Given the description of an element on the screen output the (x, y) to click on. 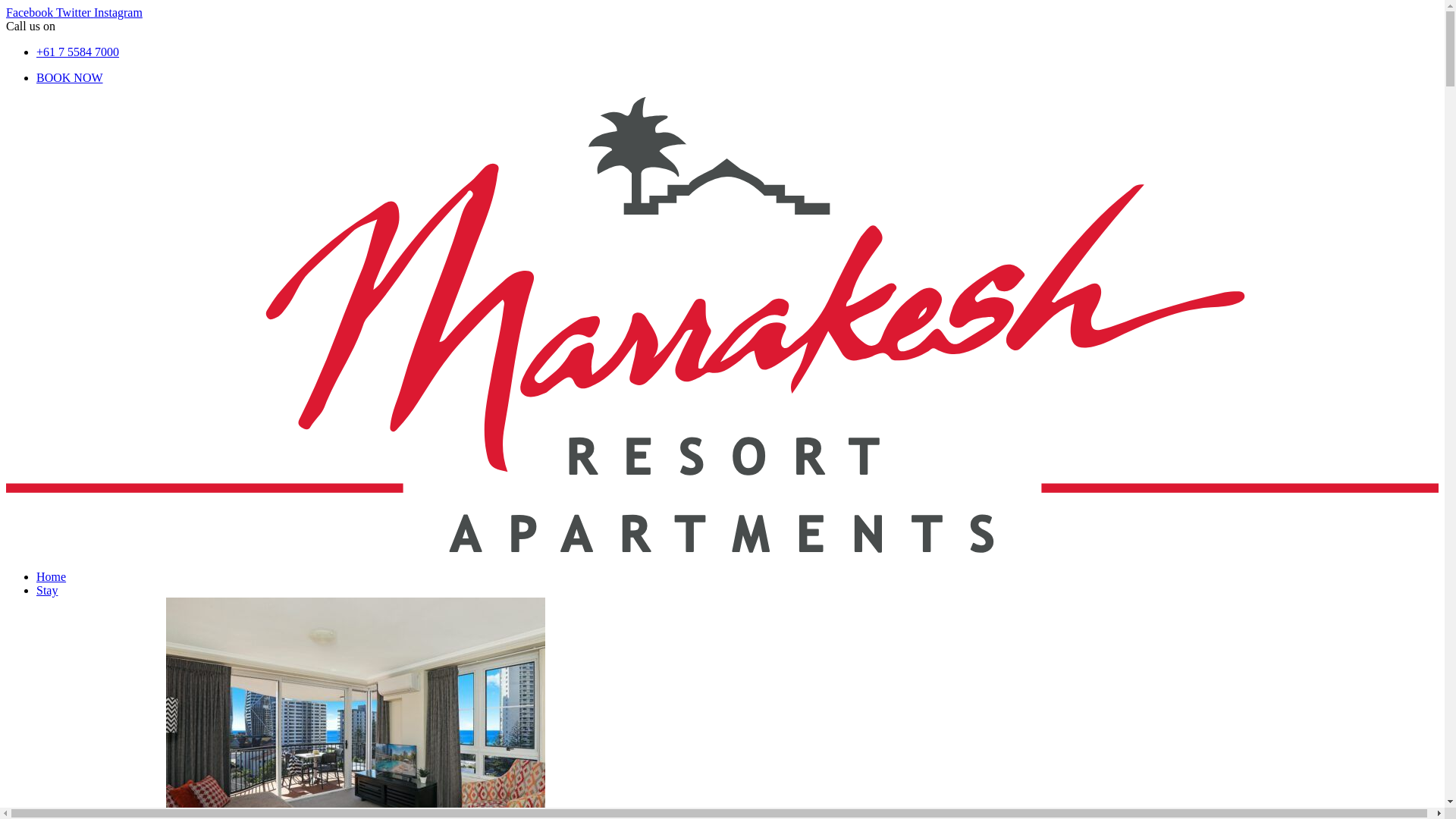
Skip to content Element type: text (5, 5)
Facebook Element type: text (31, 12)
BOOK NOW Element type: text (69, 77)
Home Element type: text (50, 576)
Twitter Element type: text (75, 12)
+61 7 5584 7000 Element type: text (77, 51)
Instagram Element type: text (118, 12)
Stay Element type: text (46, 589)
